Given the description of an element on the screen output the (x, y) to click on. 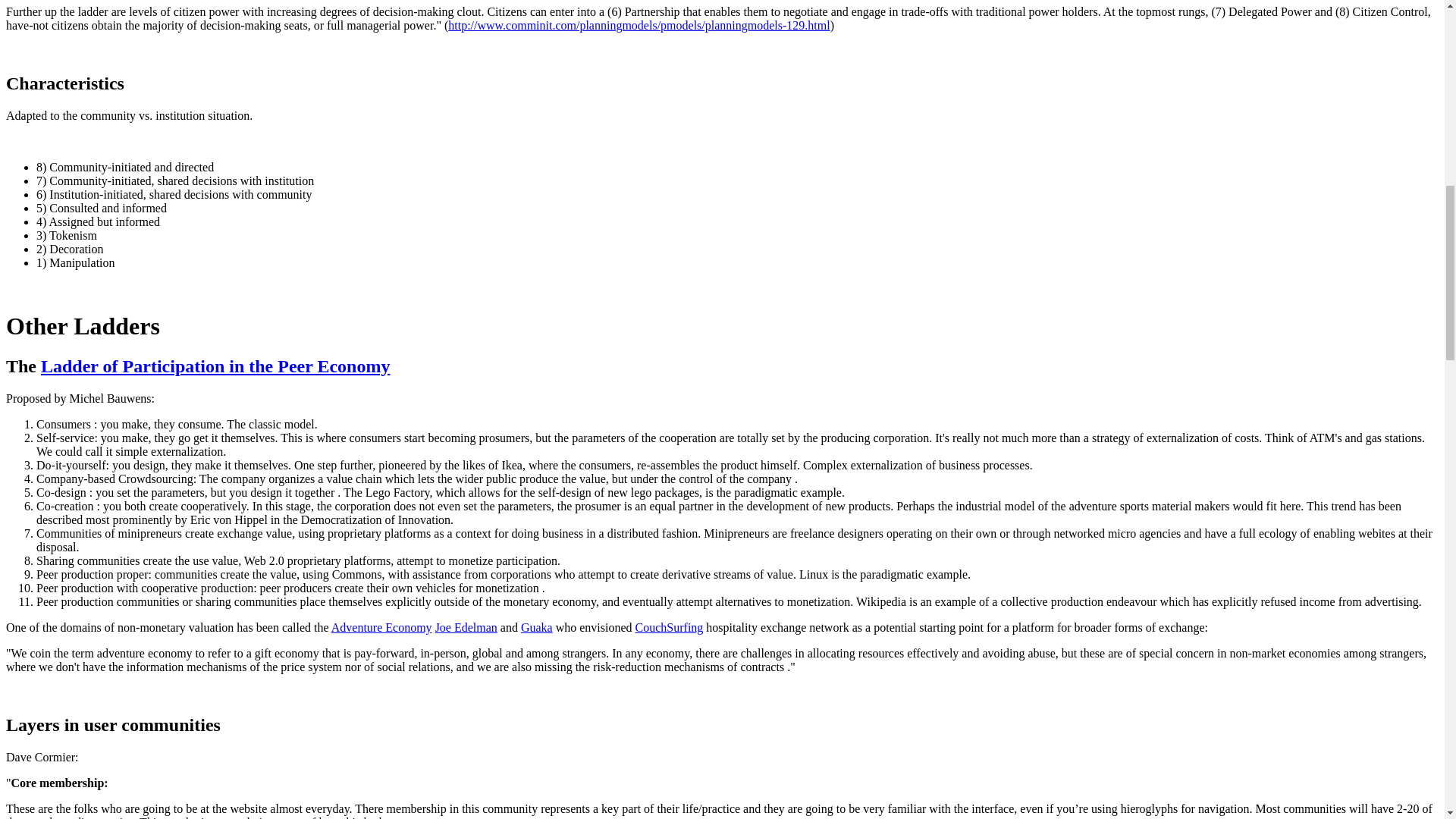
CouchSurfing (668, 626)
Ladder of Participation in the Peer Economy (215, 365)
Guaka (537, 626)
Ladder of Participation in the Peer Economy (215, 365)
Joe Edelman (466, 626)
CouchSurfing (668, 626)
Adventure Economy (381, 626)
